Given the description of an element on the screen output the (x, y) to click on. 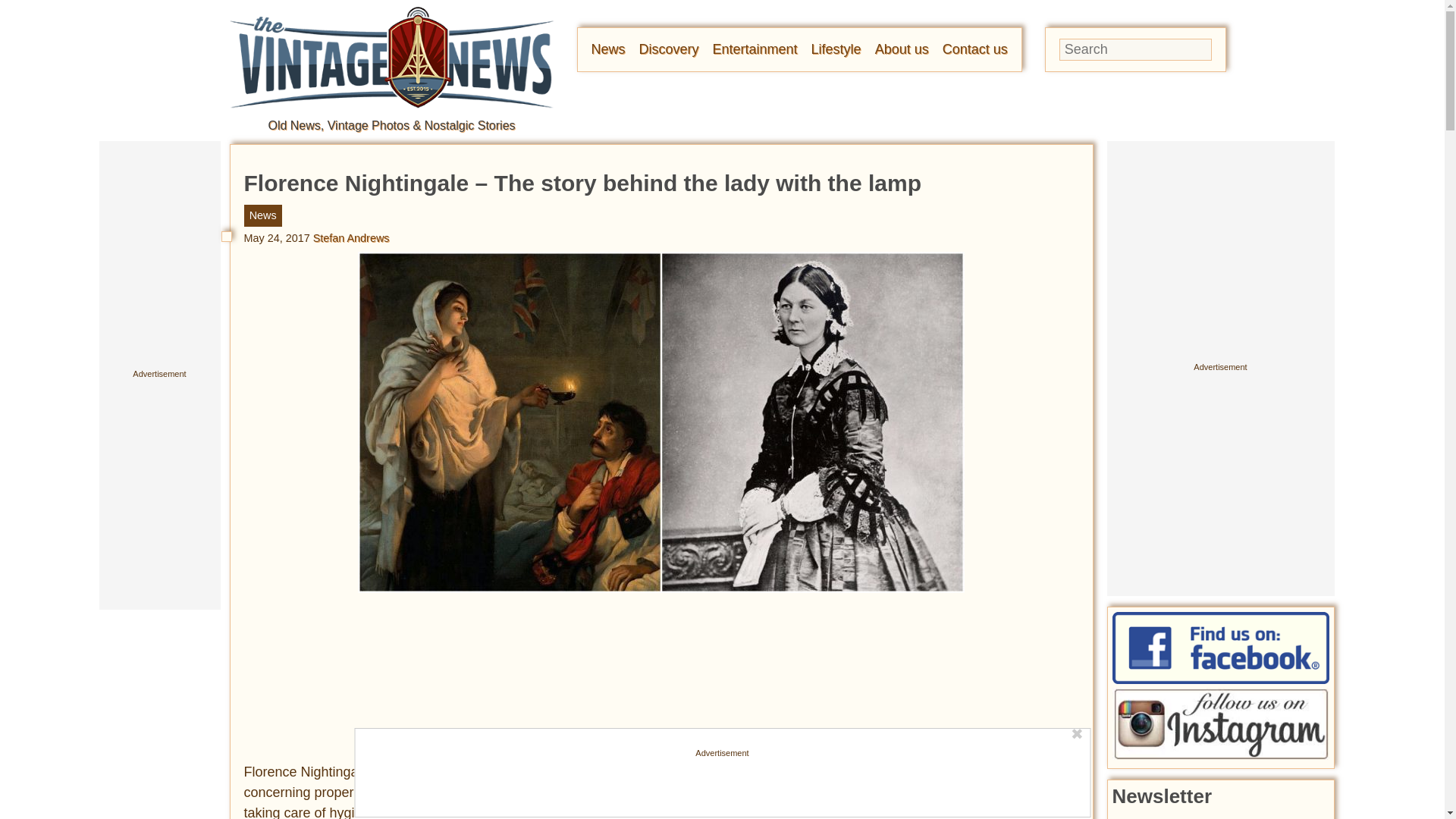
News (608, 48)
About us (901, 48)
Entertainment (755, 48)
Lifestyle (835, 48)
Contact us (974, 48)
Discovery (668, 48)
